Given the description of an element on the screen output the (x, y) to click on. 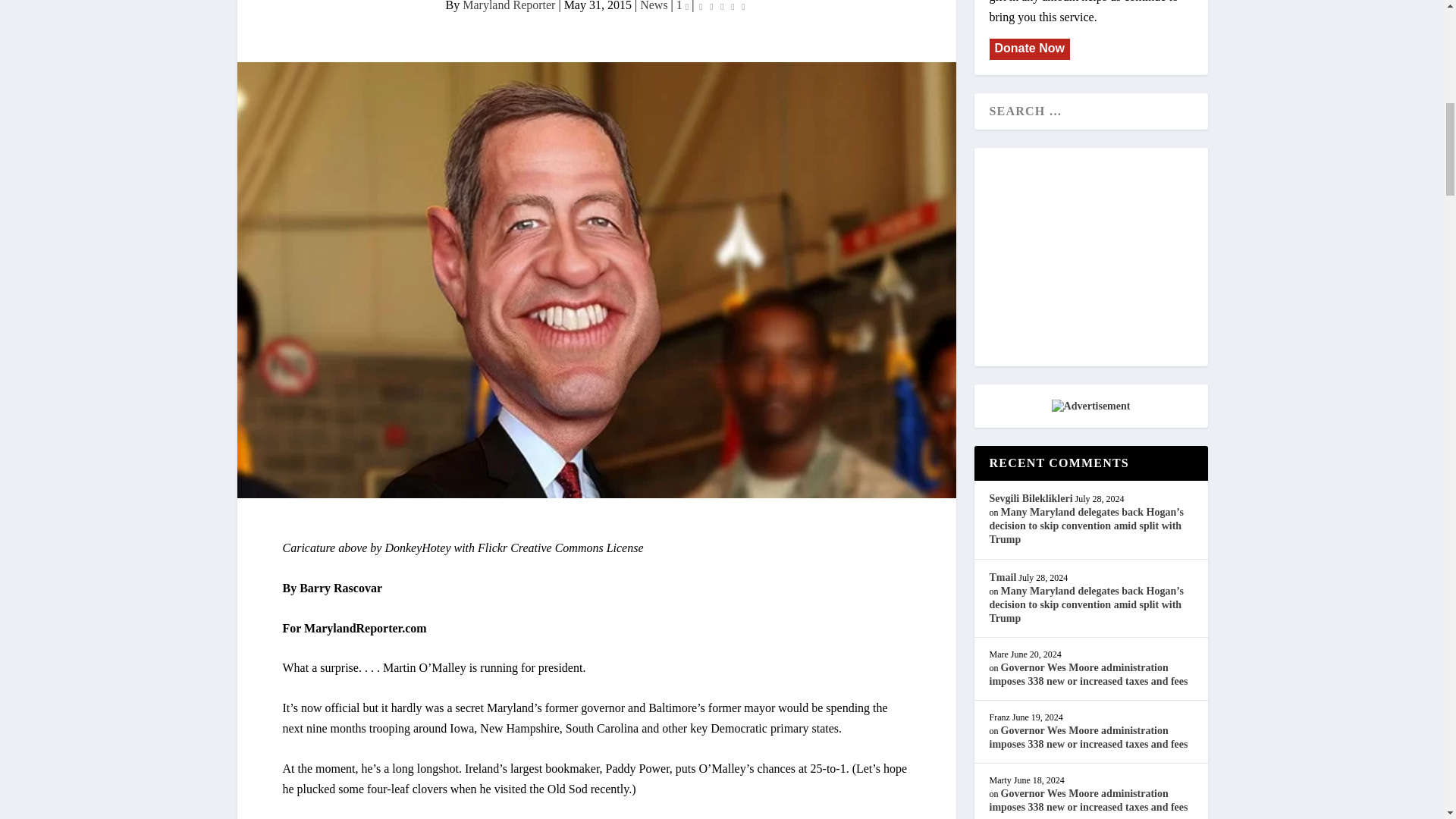
Posts by Maryland Reporter (508, 5)
Rating: 0.00 (721, 8)
1 (682, 5)
Tmail (1002, 577)
News (653, 5)
Sevgili Bileklikleri (1029, 498)
Maryland Reporter (508, 5)
Donate Now (1028, 47)
